Given the description of an element on the screen output the (x, y) to click on. 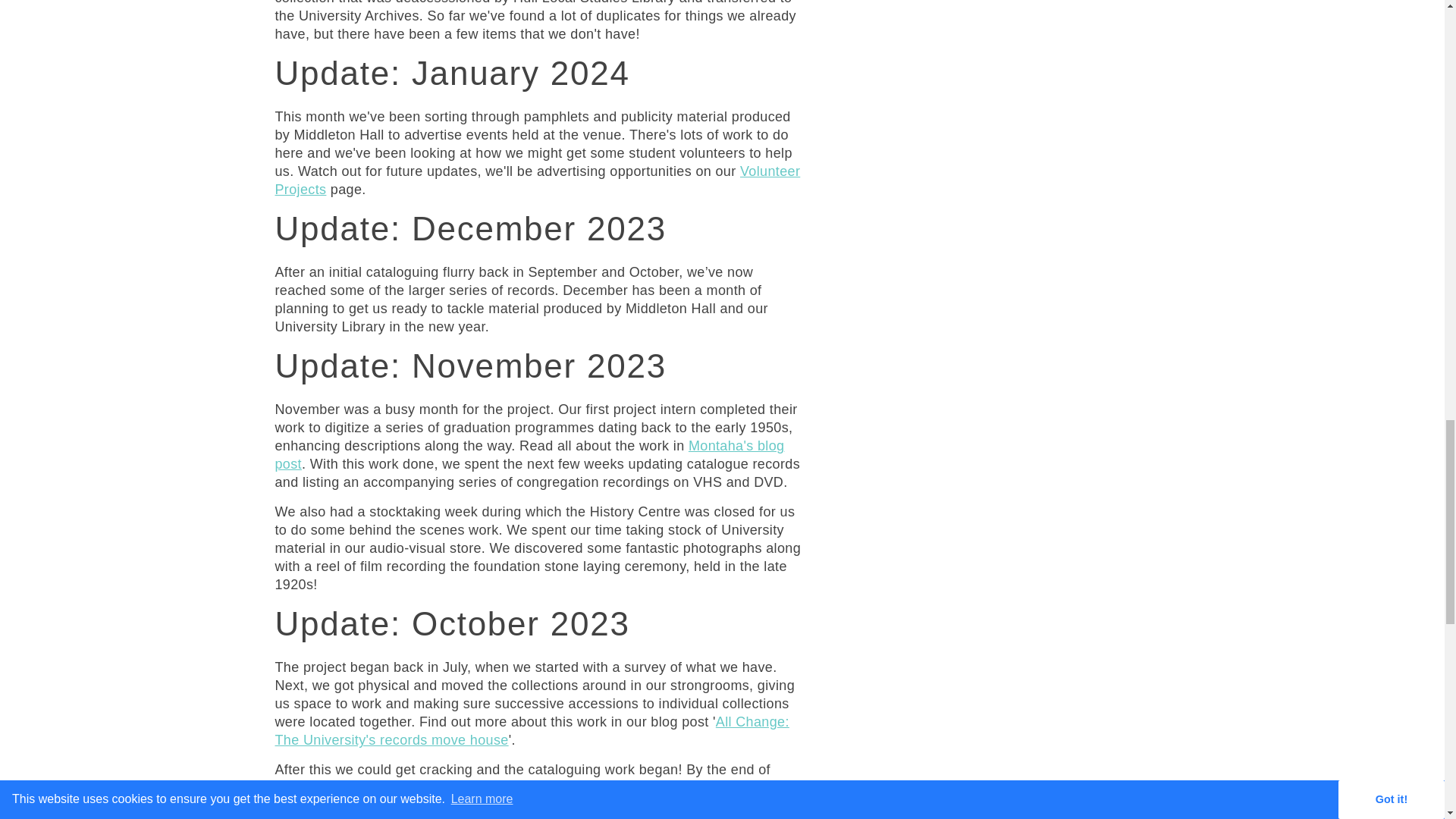
Volunteer Projects (537, 180)
Montaha's blog post (529, 454)
All Change: The University's records move house (532, 730)
